Given the description of an element on the screen output the (x, y) to click on. 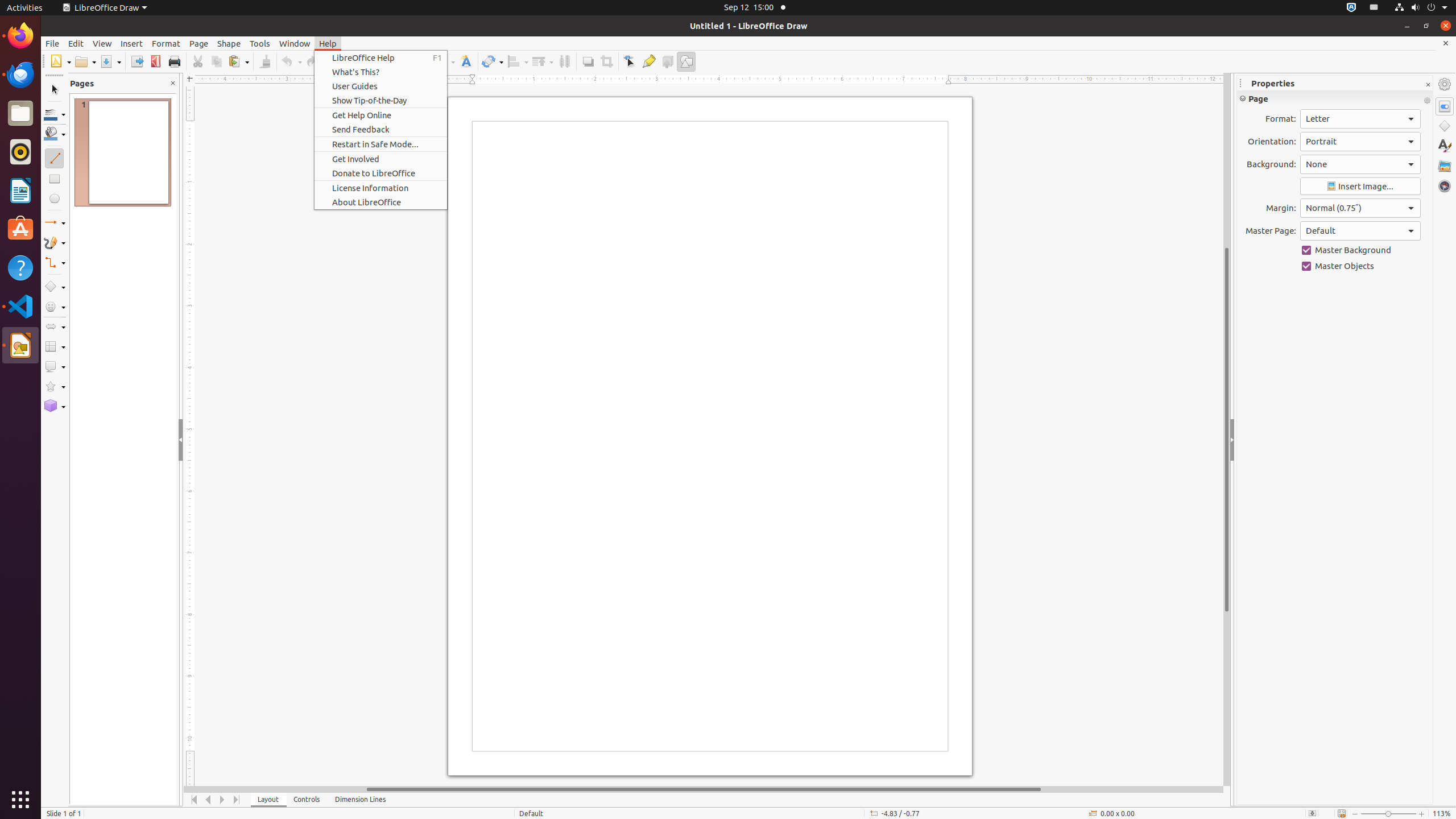
Navigator Element type: radio-button (1444, 185)
Visual Studio Code Element type: push-button (20, 306)
Arrange Element type: push-button (542, 61)
Paste Element type: push-button (237, 61)
Distribution Element type: push-button (564, 61)
